Given the description of an element on the screen output the (x, y) to click on. 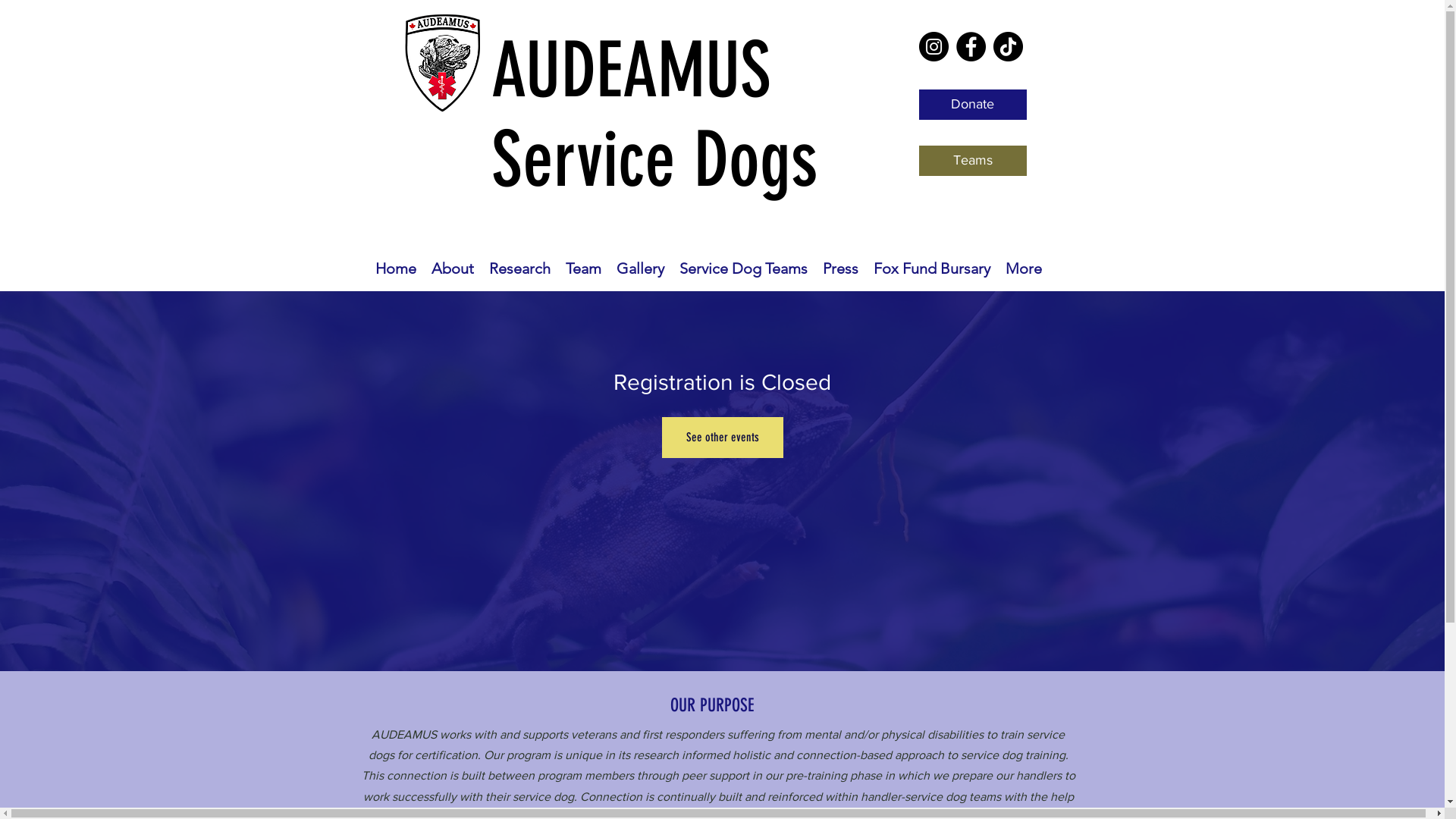
Donate Now > Element type: text (1397, 160)
Research Element type: text (518, 268)
Service Dog Teams Element type: text (743, 268)
Press Element type: text (839, 268)
Gallery Element type: text (639, 268)
Teams Element type: text (972, 160)
Team Element type: text (583, 268)
Donate Element type: text (972, 104)
Fox Fund Bursary Element type: text (931, 268)
See other events Element type: text (721, 437)
About Element type: text (451, 268)
Home Element type: text (395, 268)
